Given the description of an element on the screen output the (x, y) to click on. 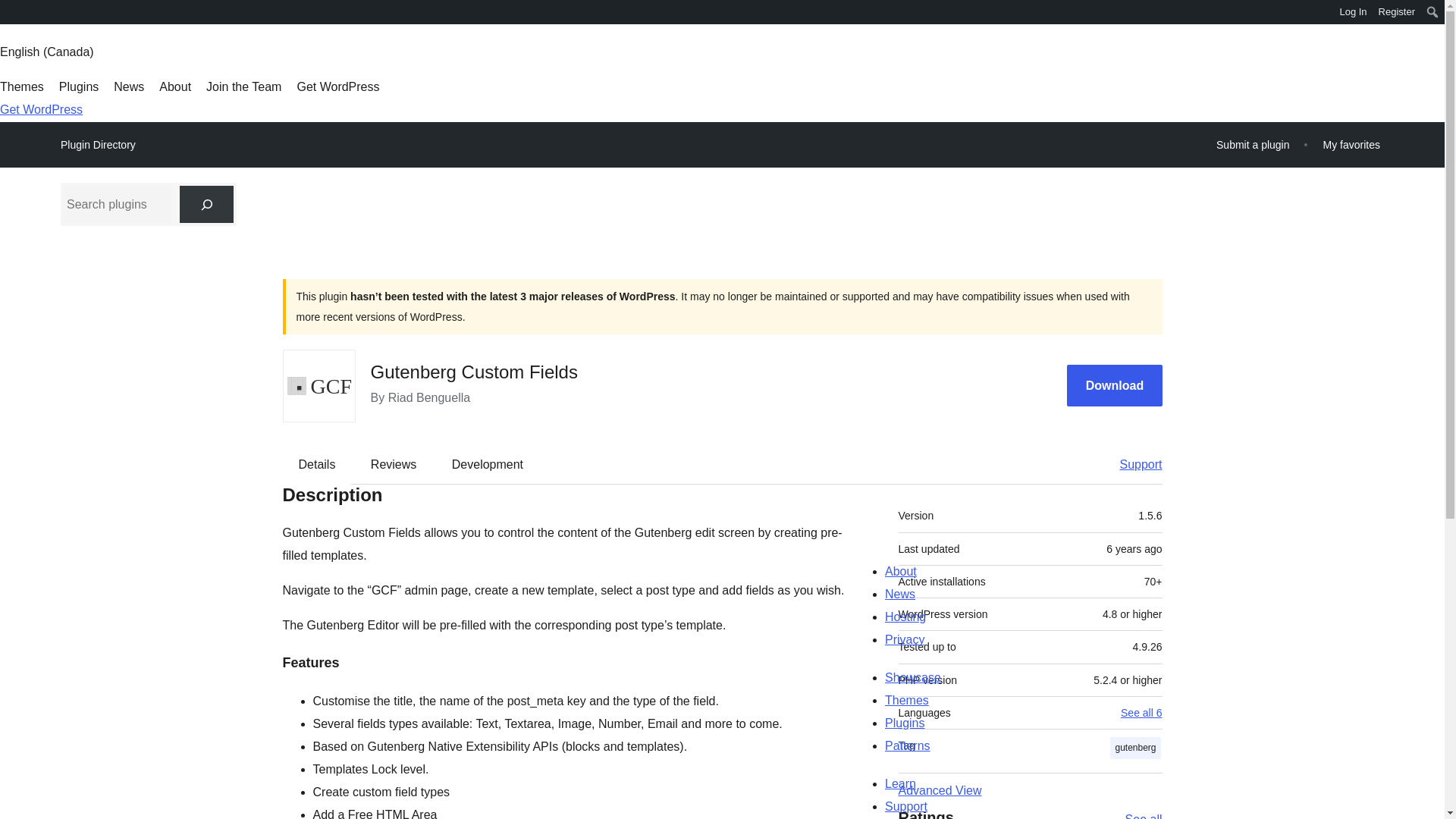
Join the Team (243, 87)
Reviews (392, 464)
Submit a plugin (1253, 144)
Get WordPress (41, 109)
Plugins (79, 87)
Details (316, 464)
Log In (1353, 12)
Search (16, 13)
Development (487, 464)
Register (1397, 12)
